Given the description of an element on the screen output the (x, y) to click on. 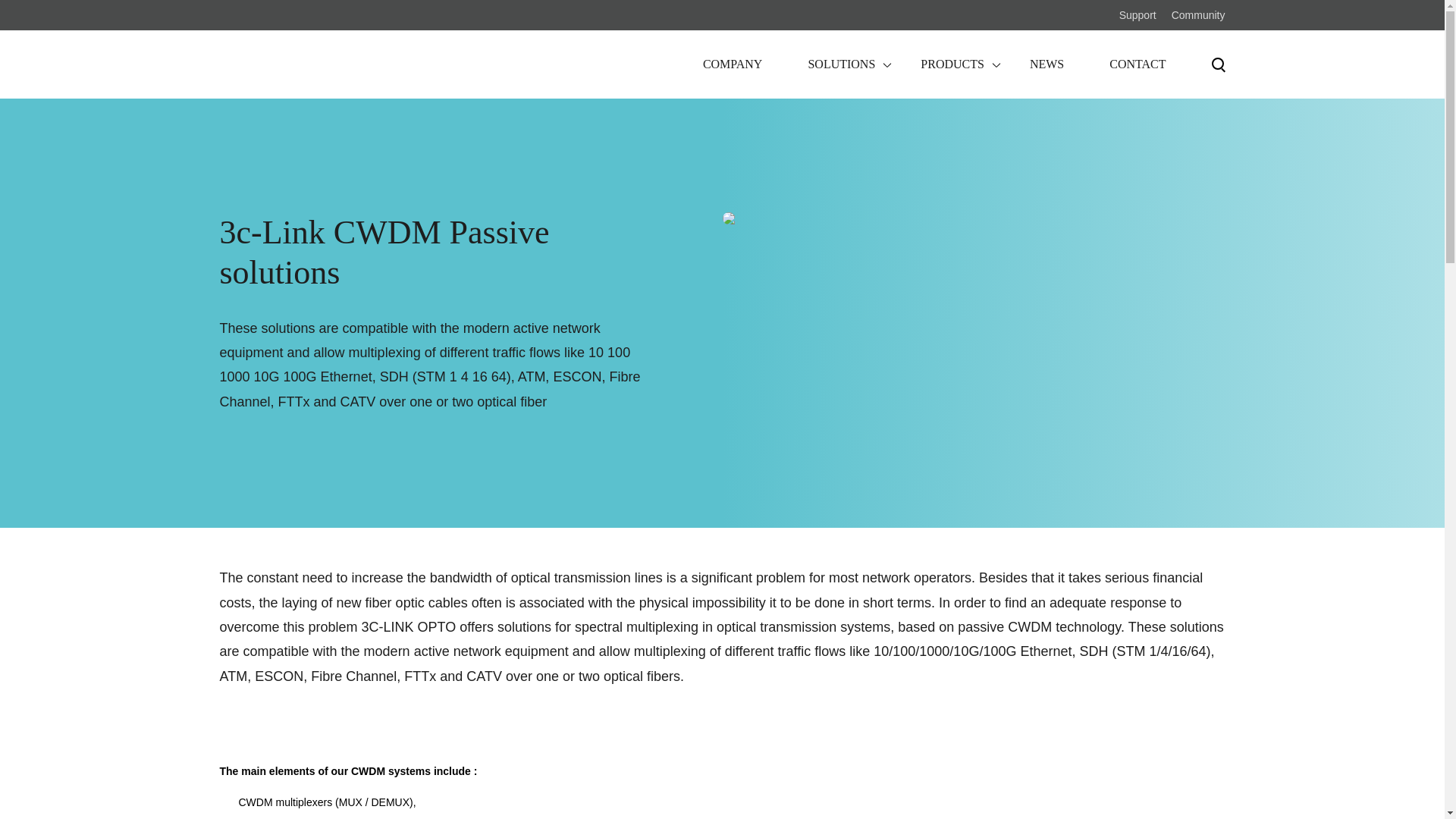
COMPANY (710, 64)
PRODUCTS (929, 64)
Community (1198, 15)
Support (1137, 15)
SOLUTIONS (818, 64)
